Given the description of an element on the screen output the (x, y) to click on. 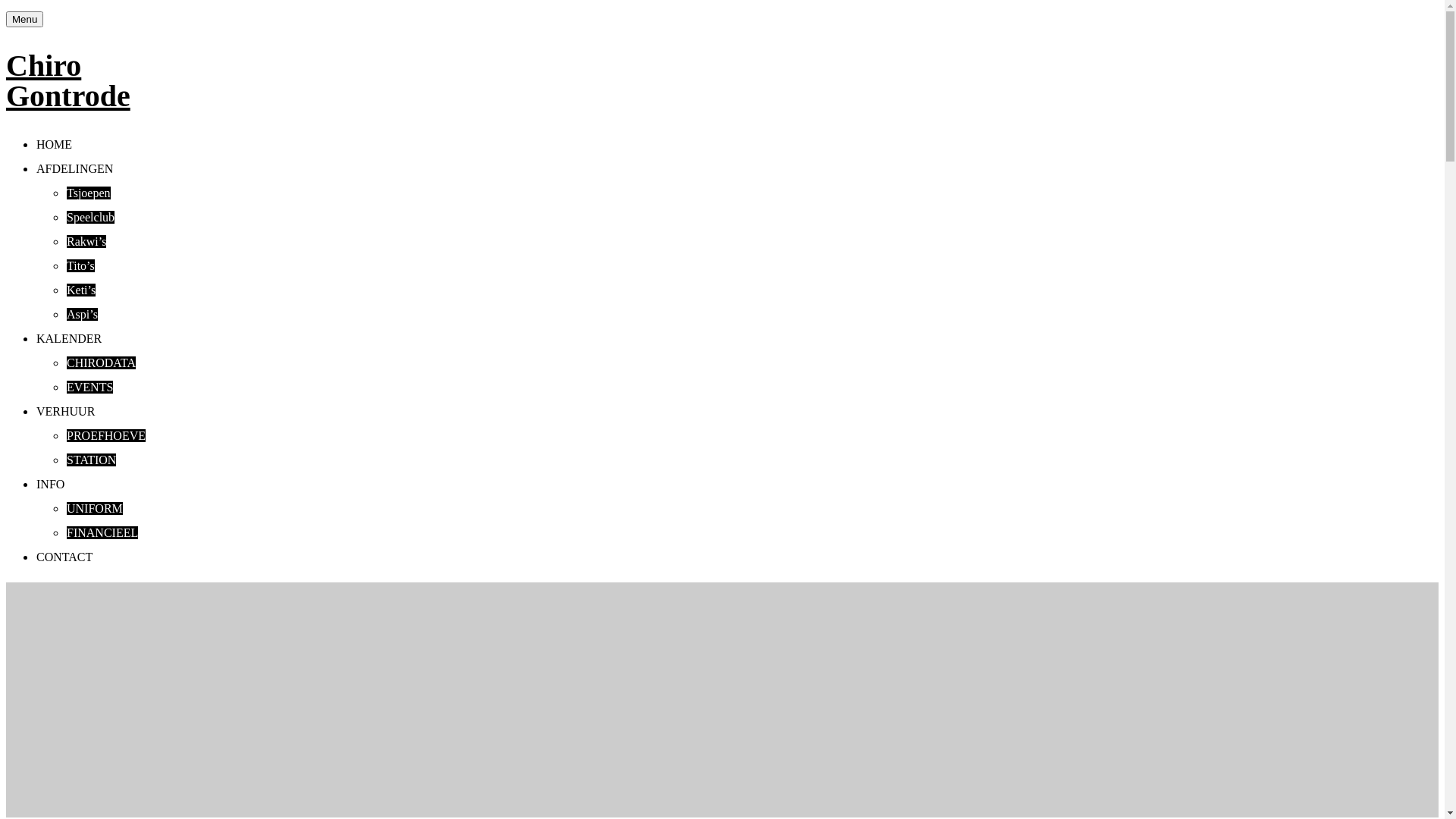
Chiro
Gontrode Element type: text (68, 80)
Speelclub Element type: text (90, 216)
CHIRODATA Element type: text (100, 362)
INFO Element type: text (50, 483)
Tsjoepen Element type: text (88, 192)
VERHUUR Element type: text (65, 410)
KALENDER Element type: text (68, 338)
HOME Element type: text (54, 144)
FINANCIEEL Element type: text (102, 532)
PROEFHOEVE Element type: text (105, 435)
EVENTS Element type: text (89, 386)
CONTACT Element type: text (64, 556)
AFDELINGEN Element type: text (74, 168)
Menu Element type: text (24, 19)
UNIFORM Element type: text (94, 508)
STATION Element type: text (91, 459)
